Given the description of an element on the screen output the (x, y) to click on. 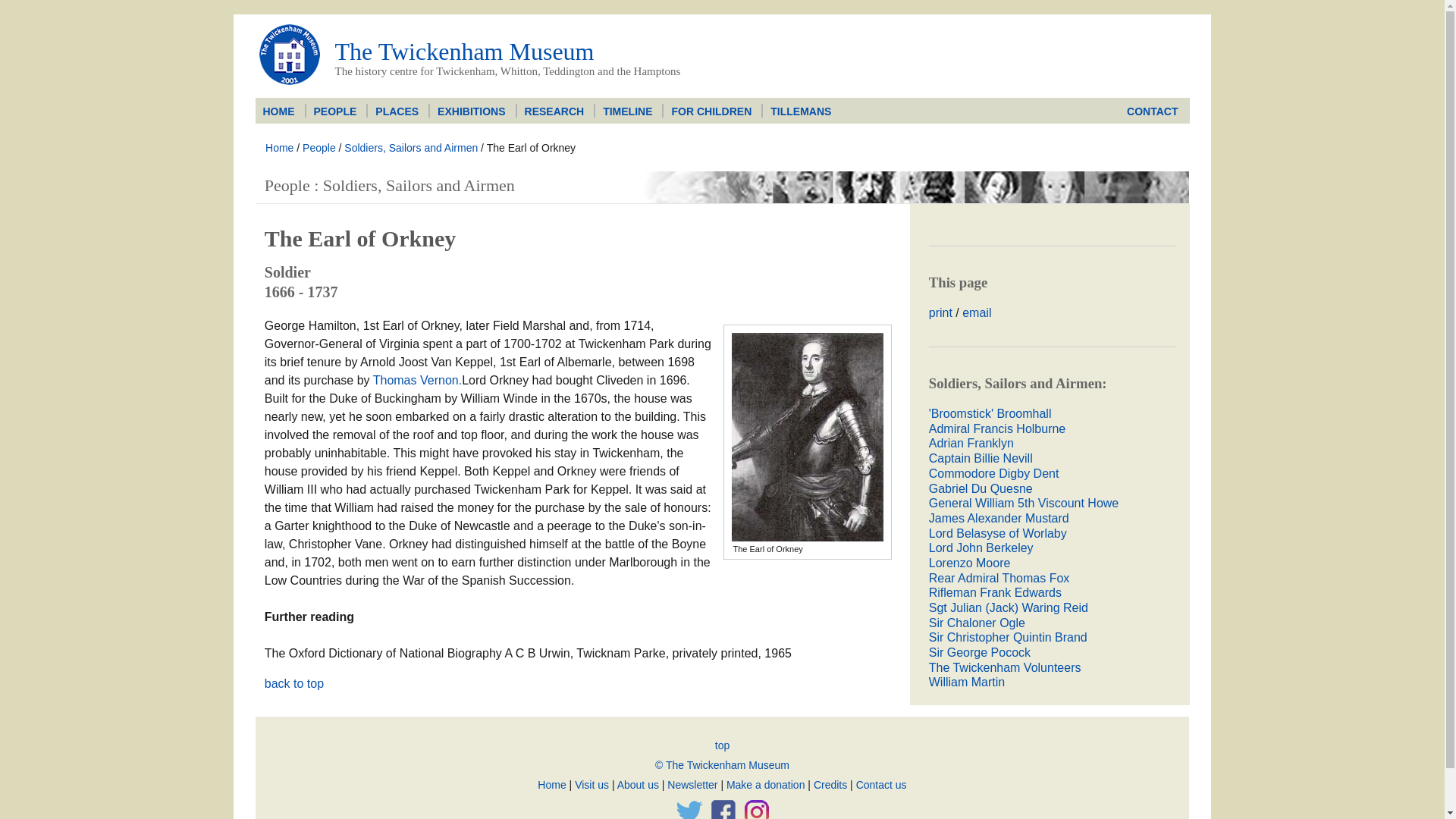
'Broomstick' Broomhall (989, 413)
Instagram (756, 806)
Captain Billie Nevill (980, 458)
TILLEMANS (800, 110)
Adrian Franklyn (970, 442)
PEOPLE (335, 110)
James Alexander Mustard (998, 517)
Home (279, 147)
General William 5th Viscount Howe (1023, 502)
Soldiers, Sailors and Airmen (410, 147)
